Given the description of an element on the screen output the (x, y) to click on. 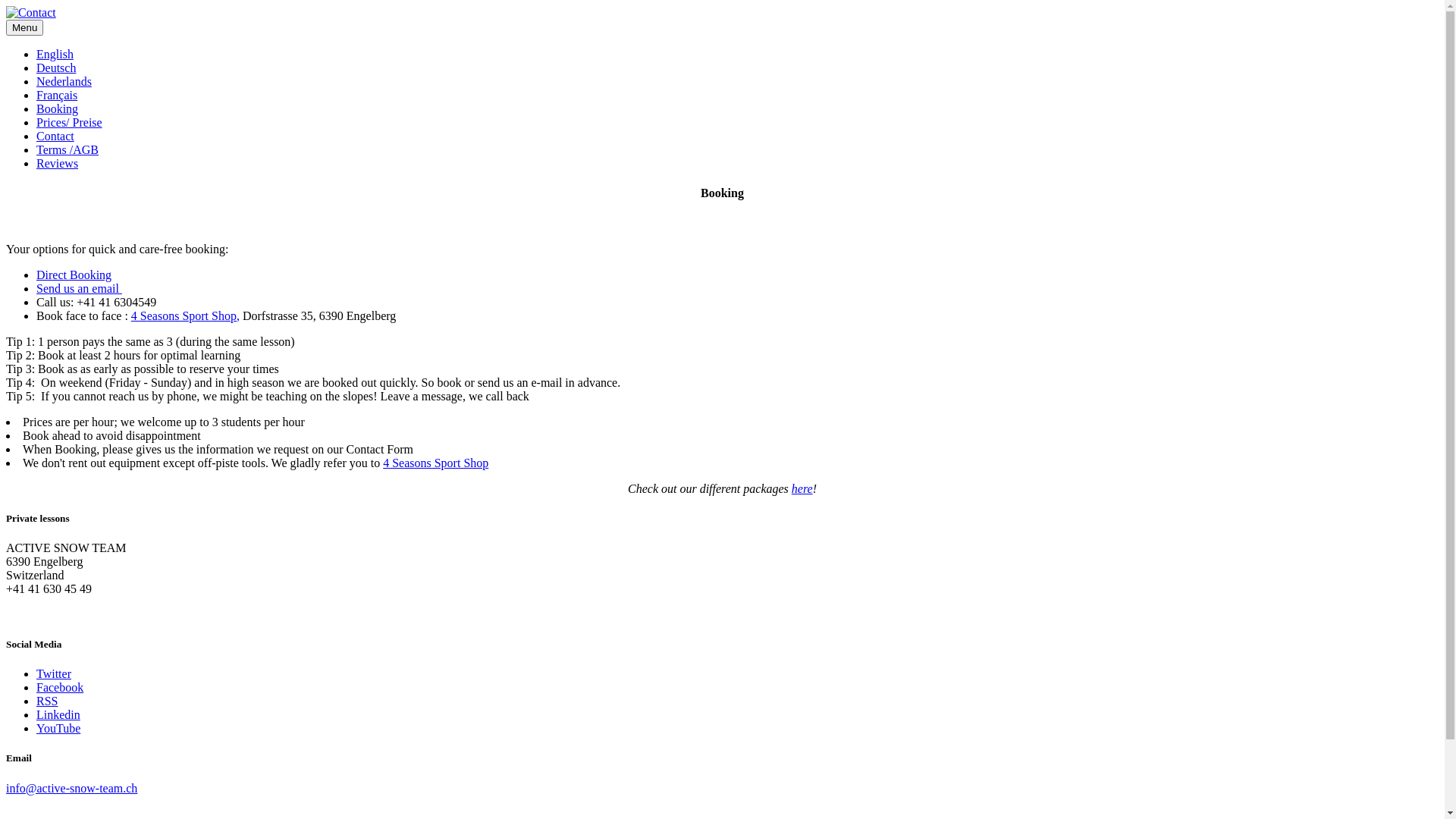
Direct Booking Element type: text (73, 274)
Booking Element type: text (57, 108)
Send us an email  Element type: text (79, 288)
Linkedin Element type: text (58, 714)
English Element type: text (54, 53)
Twitter Element type: text (53, 673)
Terms /AGB Element type: text (67, 149)
Contact Element type: text (55, 135)
info@active-snow-team.ch Element type: text (71, 787)
Deutsch Element type: text (55, 67)
here Element type: text (801, 488)
Nederlands Element type: text (63, 81)
RSS Element type: text (46, 700)
Facebook Element type: text (59, 686)
Prices/ Preise Element type: text (69, 122)
4 Seasons Sport Shop, Element type: text (185, 315)
Reviews Element type: text (57, 162)
4 Seasons Sport Shop Element type: text (435, 462)
YouTube Element type: text (58, 727)
Menu Element type: text (24, 27)
